Given the description of an element on the screen output the (x, y) to click on. 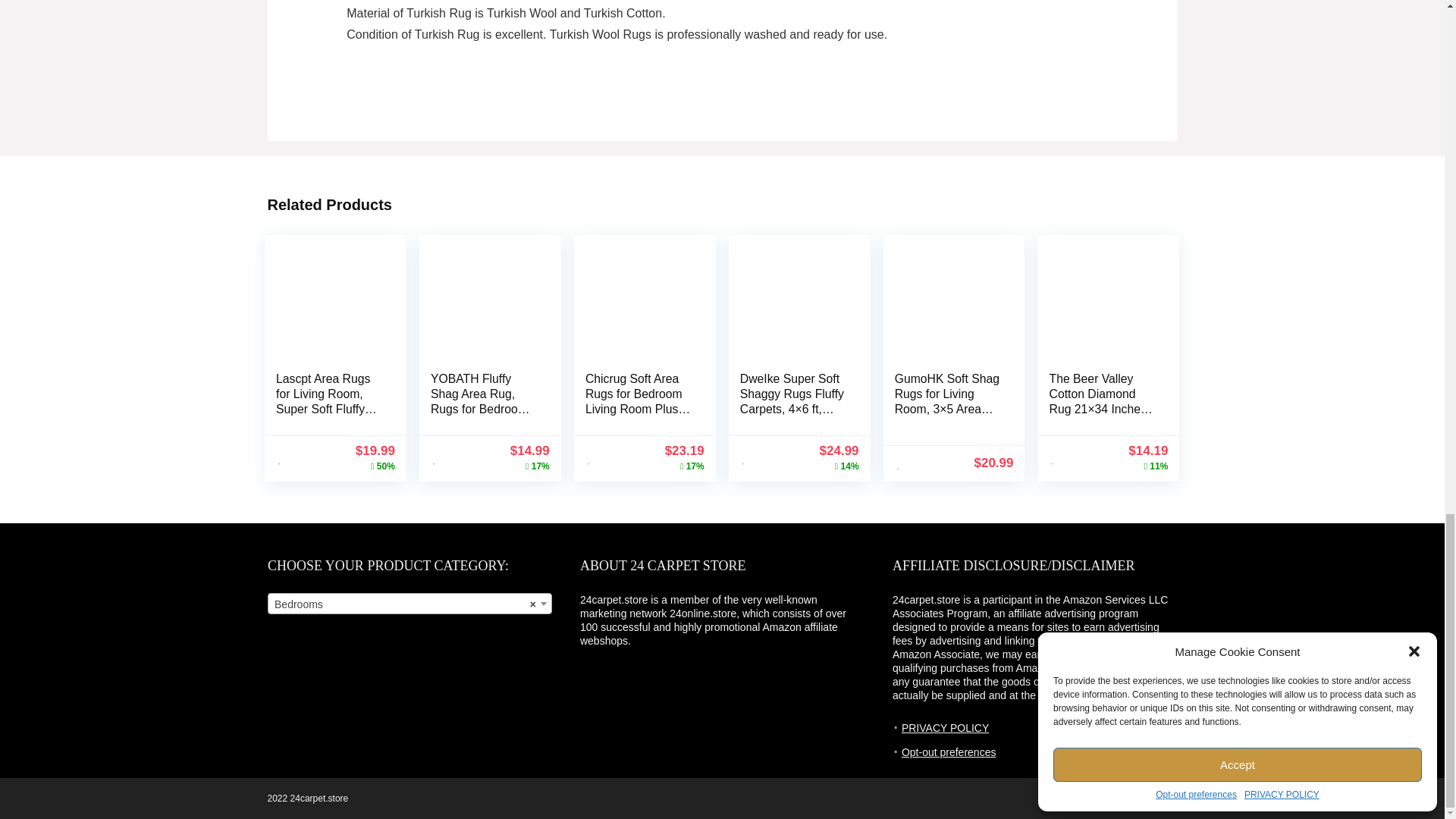
Bedrooms (409, 603)
